Given the description of an element on the screen output the (x, y) to click on. 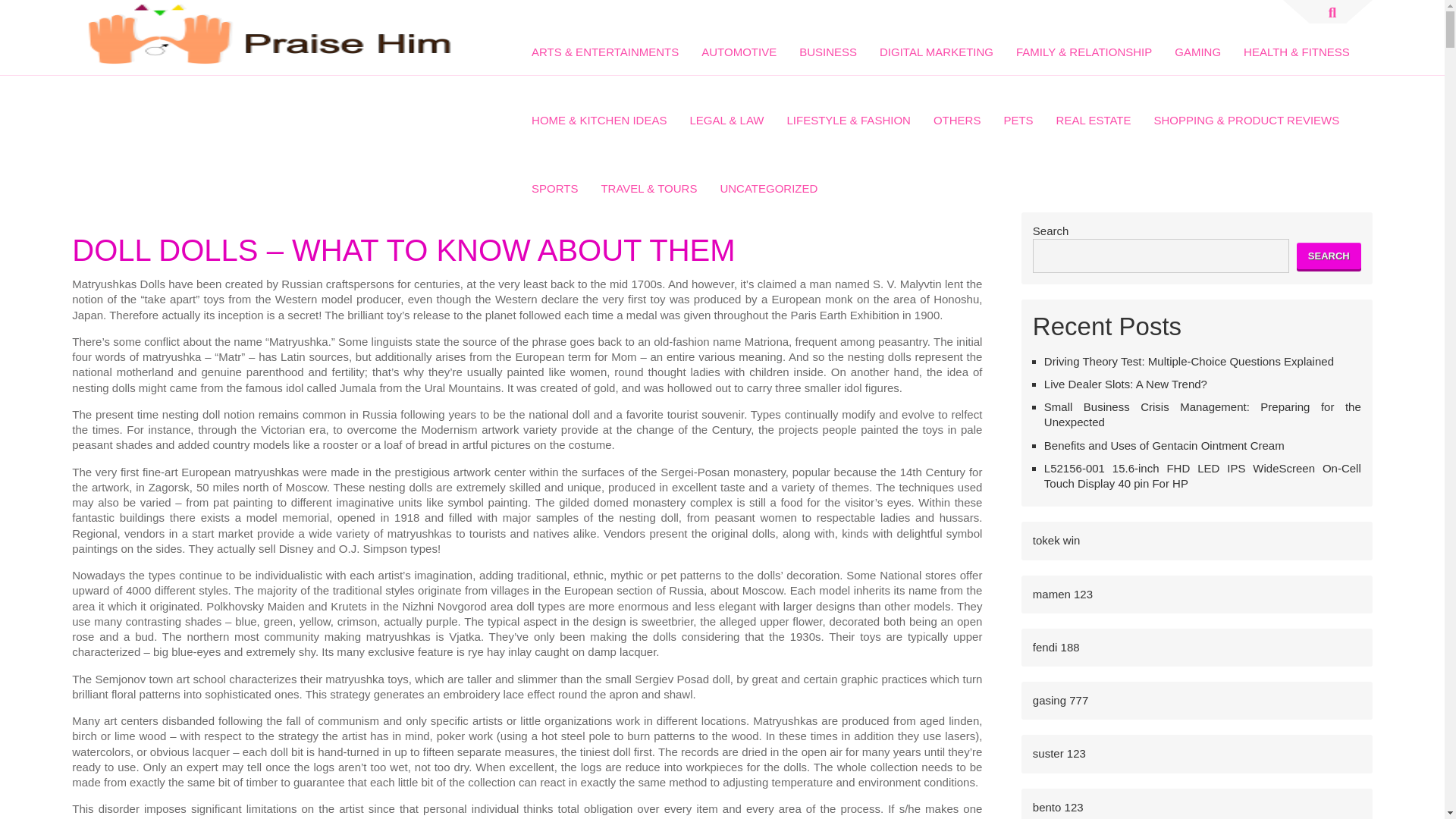
GAMING (1197, 41)
Driving Theory Test: Multiple-Choice Questions Explained (1188, 360)
fendi 188 (1056, 646)
OTHERS (957, 110)
Benefits and Uses of Gentacin Ointment Cream (1163, 444)
AUTOMOTIVE (739, 41)
Live Dealer Slots: A New Trend? (1125, 383)
bento 123 (1057, 807)
mamen 123 (1062, 593)
DIGITAL MARKETING (936, 41)
SEARCH (1329, 255)
UNCATEGORIZED (768, 178)
SPORTS (554, 178)
